Given the description of an element on the screen output the (x, y) to click on. 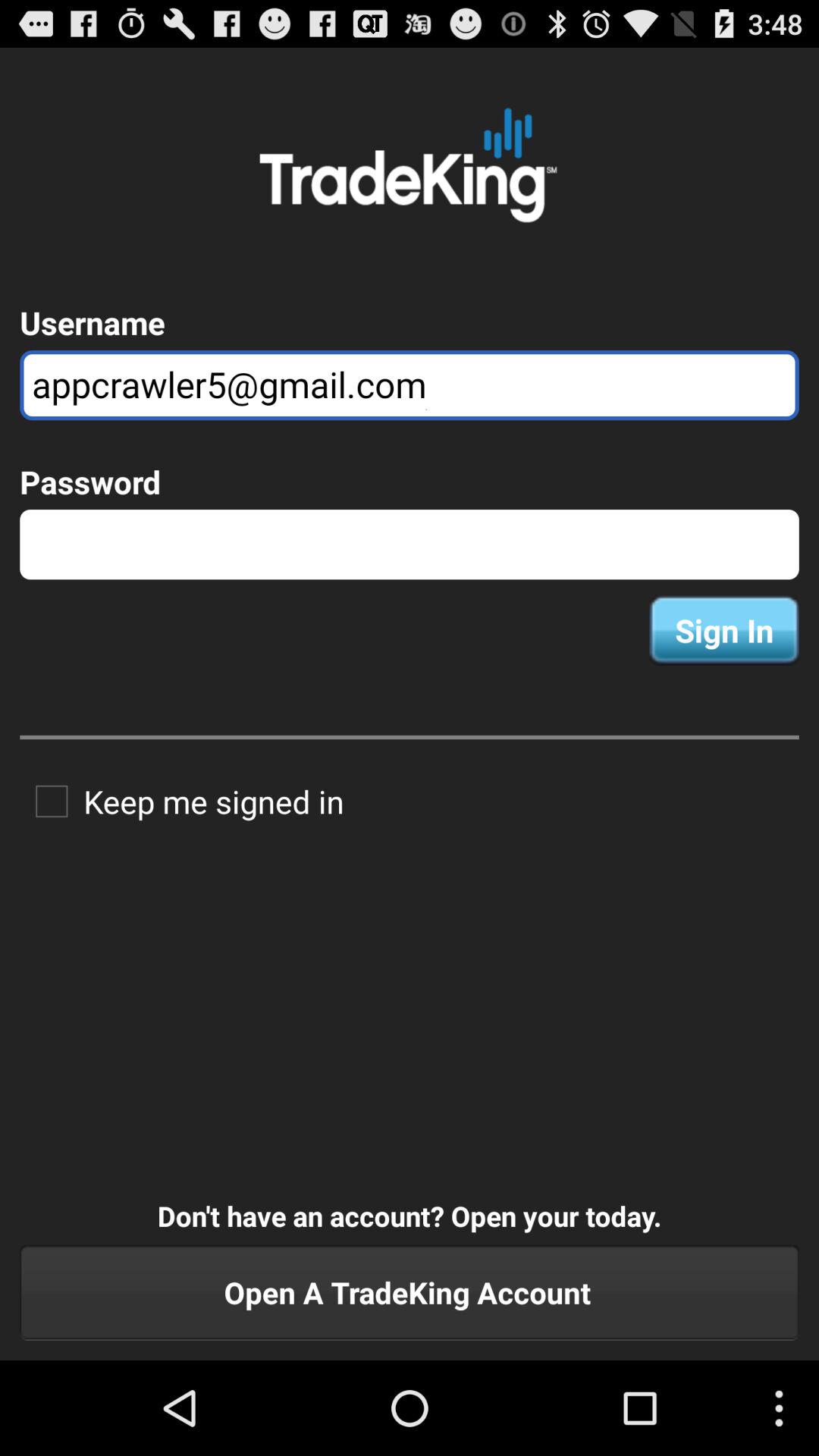
press the appcrawler5@gmail.com icon (409, 385)
